Given the description of an element on the screen output the (x, y) to click on. 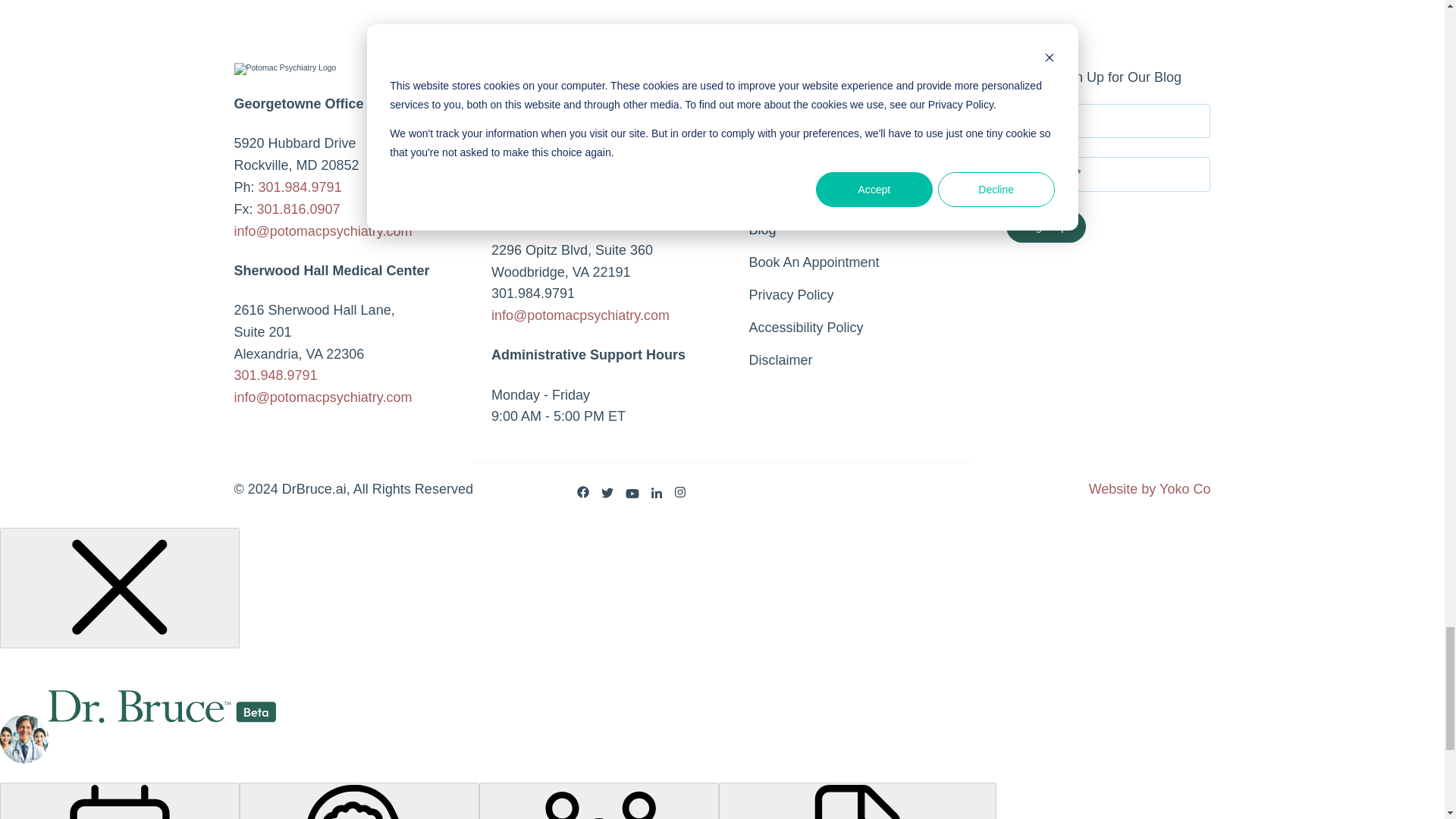
Sign Up (1046, 226)
Potomac Psychiatry Logo (284, 69)
